Given the description of an element on the screen output the (x, y) to click on. 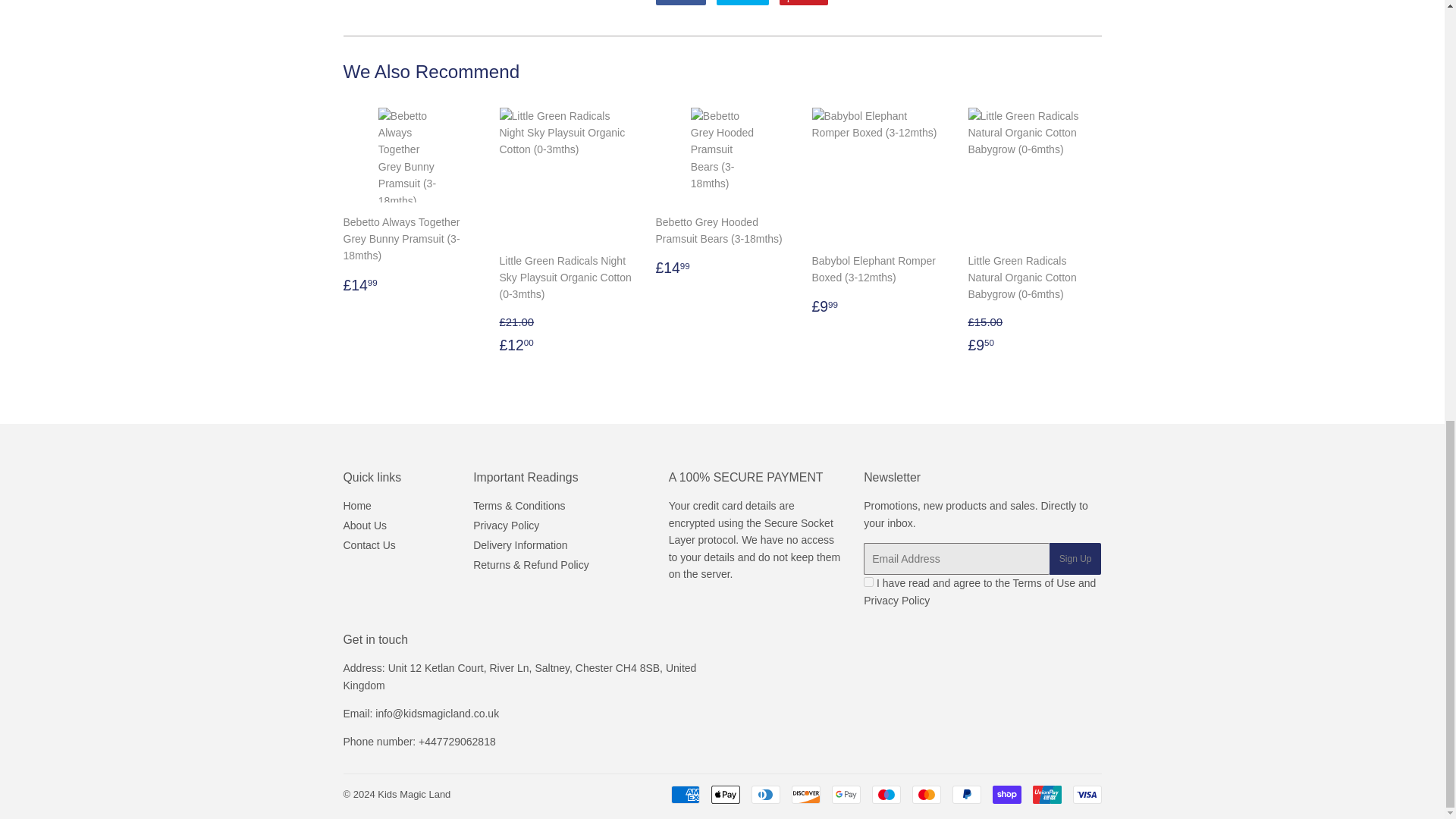
Apple Pay (725, 794)
American Express (683, 794)
Visa (1085, 794)
PayPal (966, 794)
Diners Club (764, 794)
Discover (806, 794)
Mastercard (925, 794)
Union Pay (1046, 794)
Google Pay (845, 794)
Pin on Pinterest (803, 2)
